Given the description of an element on the screen output the (x, y) to click on. 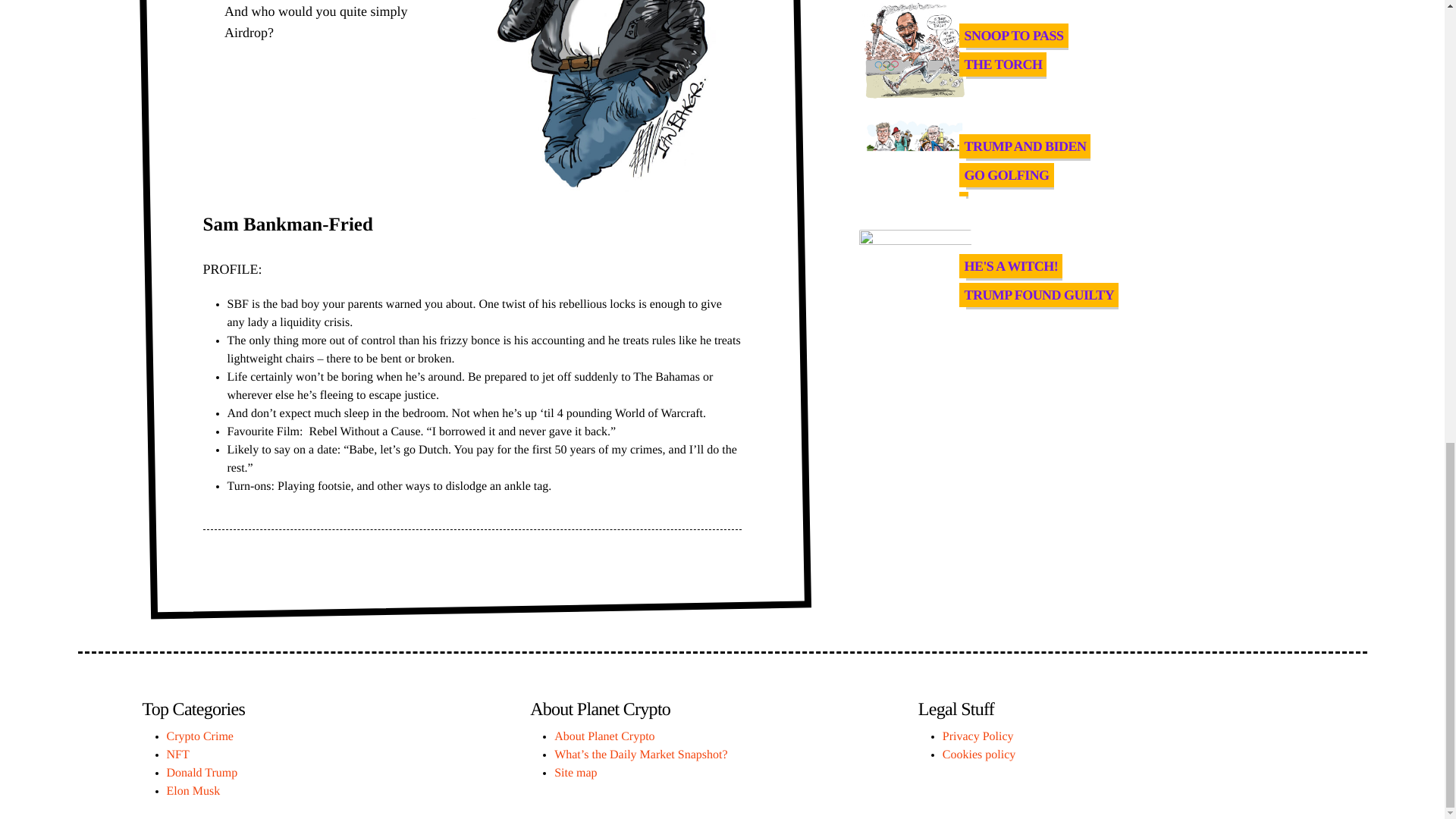
Site map (575, 772)
Privacy Policy (1018, 285)
Elon Musk (1018, 55)
Trump burning finish June 4th2024 Planet Crypto (977, 736)
Snoop Dog July 24th 2024 Planet Crypto (194, 790)
Cookies policy (915, 279)
Trump and Biden golf flattened Planet Crypto (915, 49)
